Given the description of an element on the screen output the (x, y) to click on. 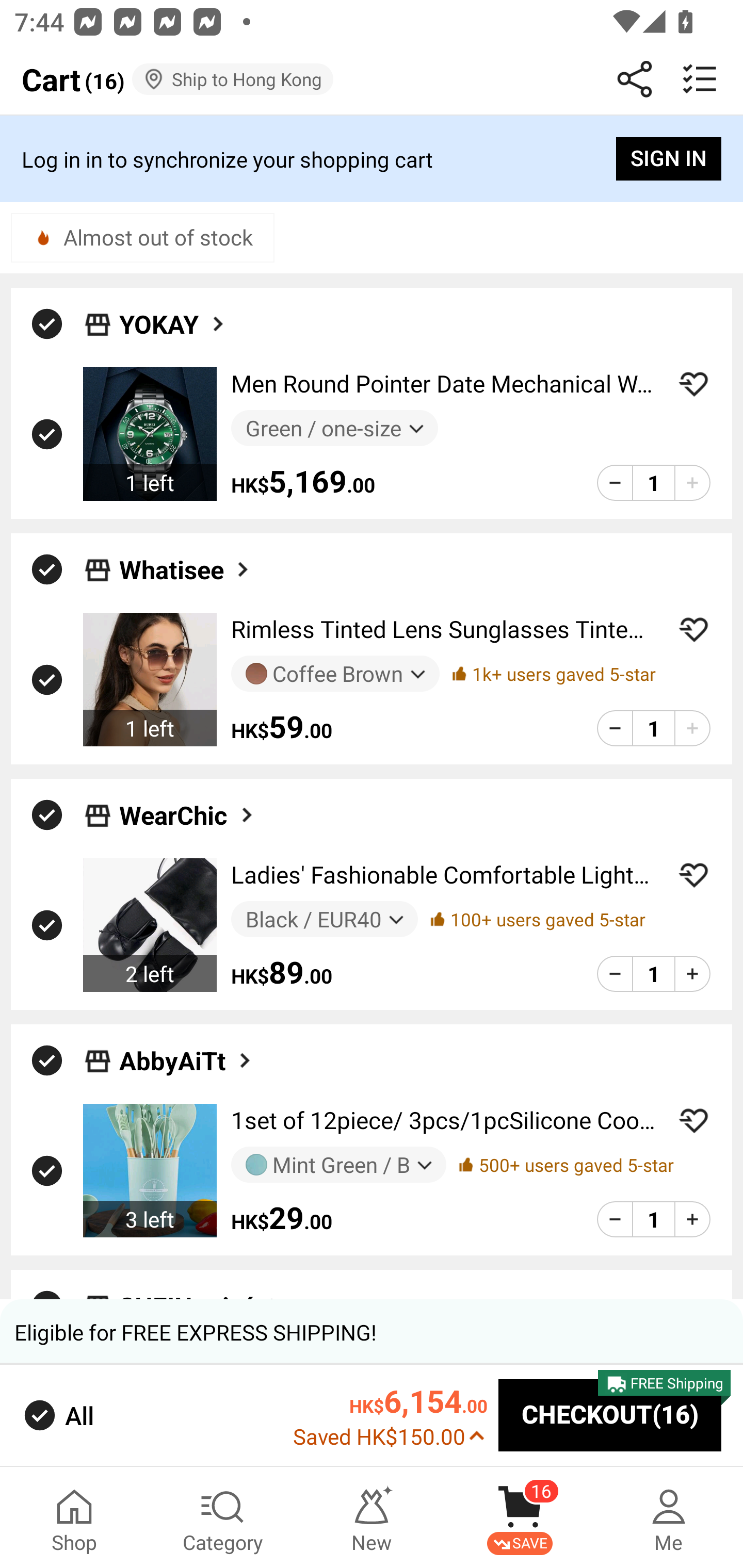
Cart (16) Ship to Hong Kong Share batch delete (371, 79)
Share (634, 79)
batch delete (699, 79)
Ship to Hong Kong (232, 78)
SIGN IN (668, 158)
Almost out of stock (142, 237)
YOKAY (173, 323)
ADD TO WISHLIST (693, 383)
Green / one-size (334, 428)
product quantity minus 1 (614, 482)
1 edit product quantity (653, 482)
product quantity add 1 (692, 482)
Whatisee (185, 568)
ADD TO WISHLIST (693, 629)
 Coffee Brown (335, 673)
product quantity minus 1 (614, 728)
1 edit product quantity (653, 728)
product quantity add 1 (692, 728)
WearChic (187, 815)
ADD TO WISHLIST (693, 874)
Black / EUR40 (324, 919)
product quantity minus 1 (614, 974)
1 edit product quantity (653, 974)
product quantity add 1 (692, 974)
AbbyAiTt (186, 1059)
ADD TO WISHLIST (693, 1119)
 Mint Green / B (338, 1164)
product quantity minus 1 (614, 1219)
1 edit product quantity (653, 1219)
product quantity add 1 (692, 1219)
Eligible for FREE EXPRESS SHIPPING! (371, 1331)
CHECKOUT(16) (609, 1415)
HK$6,154.00 Saved HK$150.00 (389, 1414)
All (57, 1415)
Shop (74, 1517)
Category (222, 1517)
New (371, 1517)
